Given the description of an element on the screen output the (x, y) to click on. 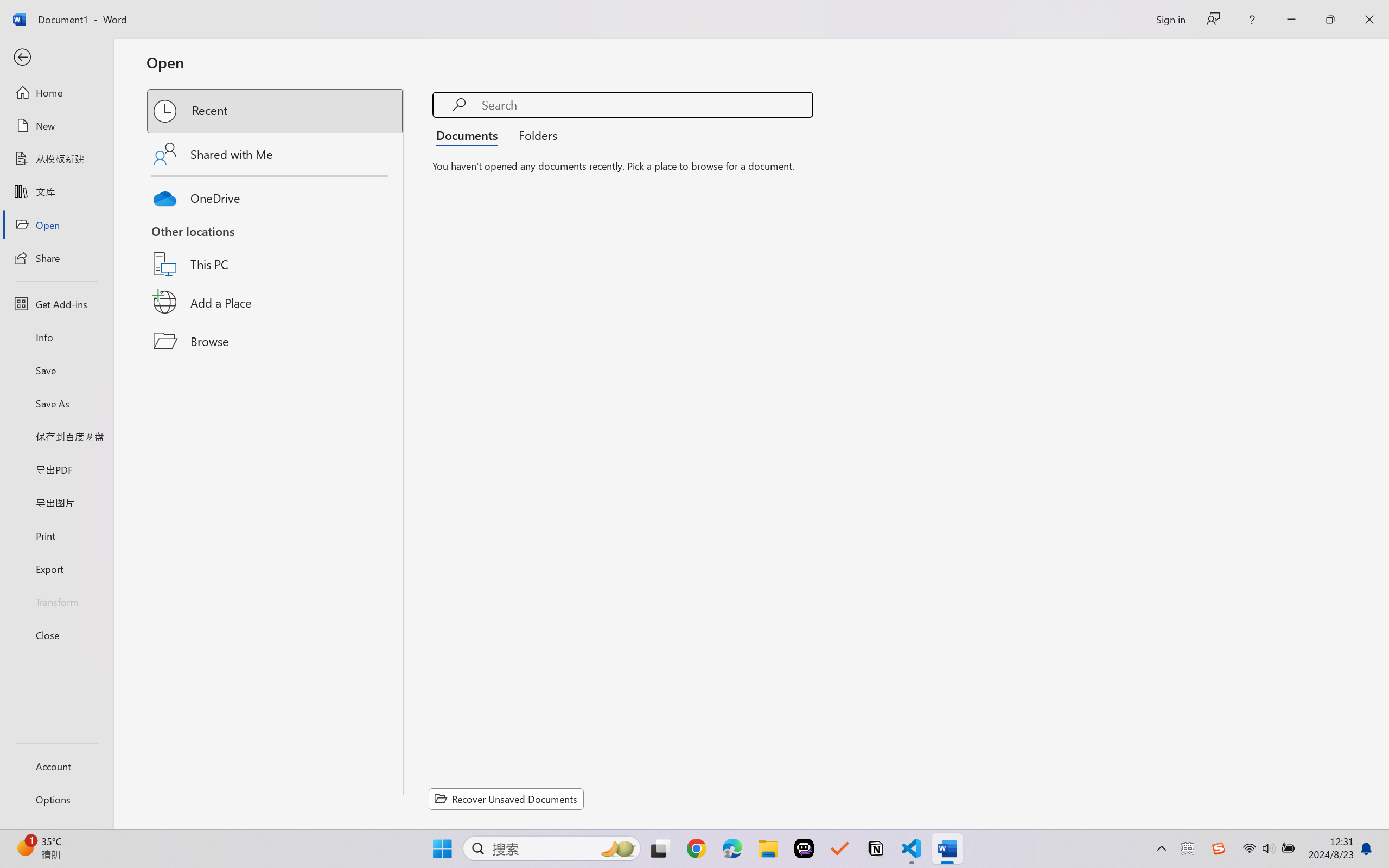
Folders (534, 134)
Shared with Me (275, 153)
Print (56, 535)
Add a Place (275, 302)
Export (56, 568)
Account (56, 765)
Recover Unsaved Documents (506, 798)
